Given the description of an element on the screen output the (x, y) to click on. 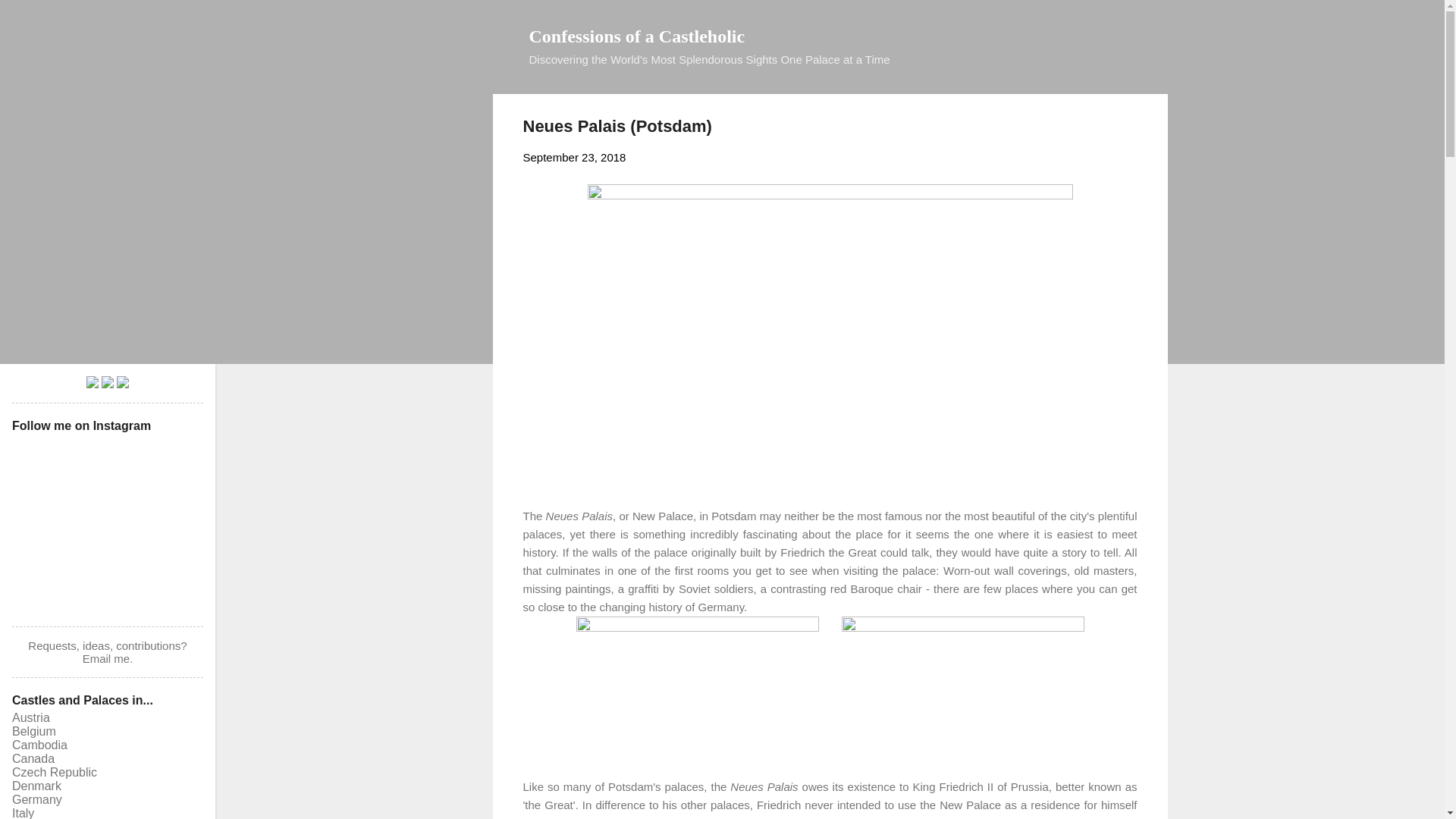
the city's plentiful palaces (829, 524)
September 23, 2018 (574, 156)
permanent link (574, 156)
Confessions of a Castleholic (637, 35)
Search (29, 18)
